Given the description of an element on the screen output the (x, y) to click on. 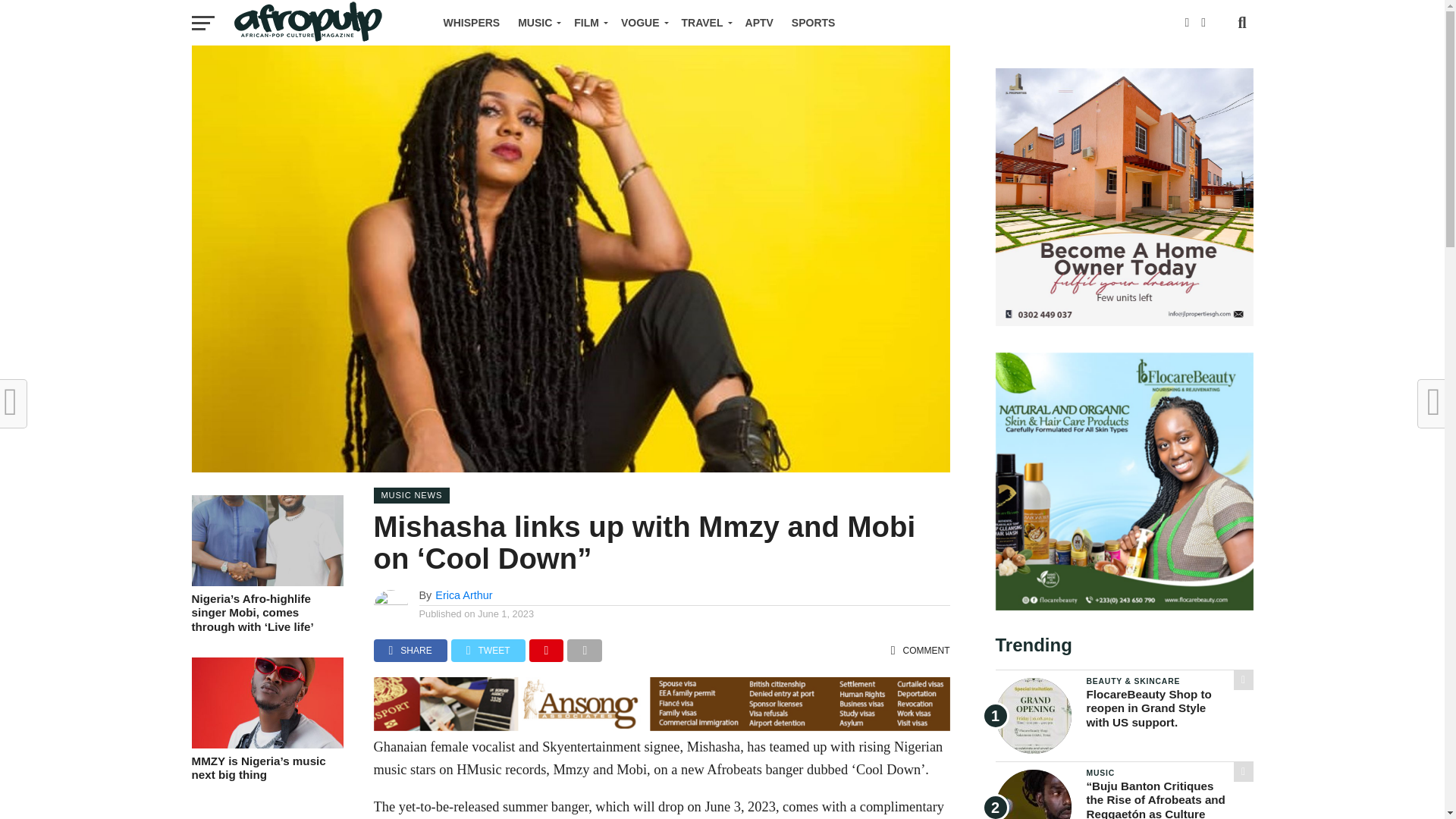
FILM (587, 22)
Posts by Erica Arthur (463, 594)
TRAVEL (704, 22)
VOGUE (641, 22)
MUSIC (536, 22)
WHISPERS (470, 22)
